Given the description of an element on the screen output the (x, y) to click on. 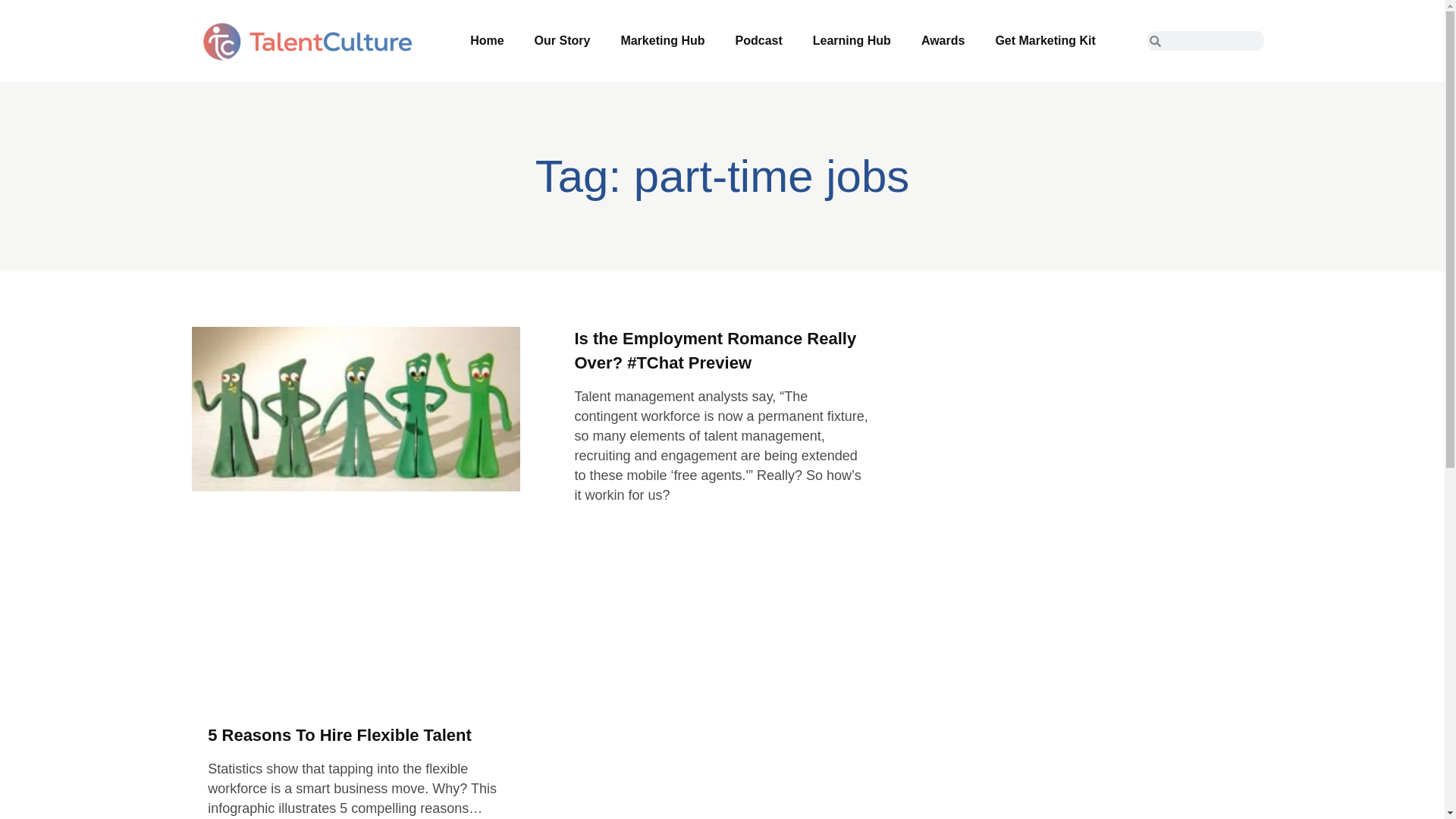
Marketing Hub (662, 40)
Home (486, 40)
Our Story (562, 40)
Learning Hub (851, 40)
Awards (942, 40)
Podcast (758, 40)
5 Reasons To Hire Flexible Talent (339, 734)
Get Marketing Kit (1044, 40)
